Given the description of an element on the screen output the (x, y) to click on. 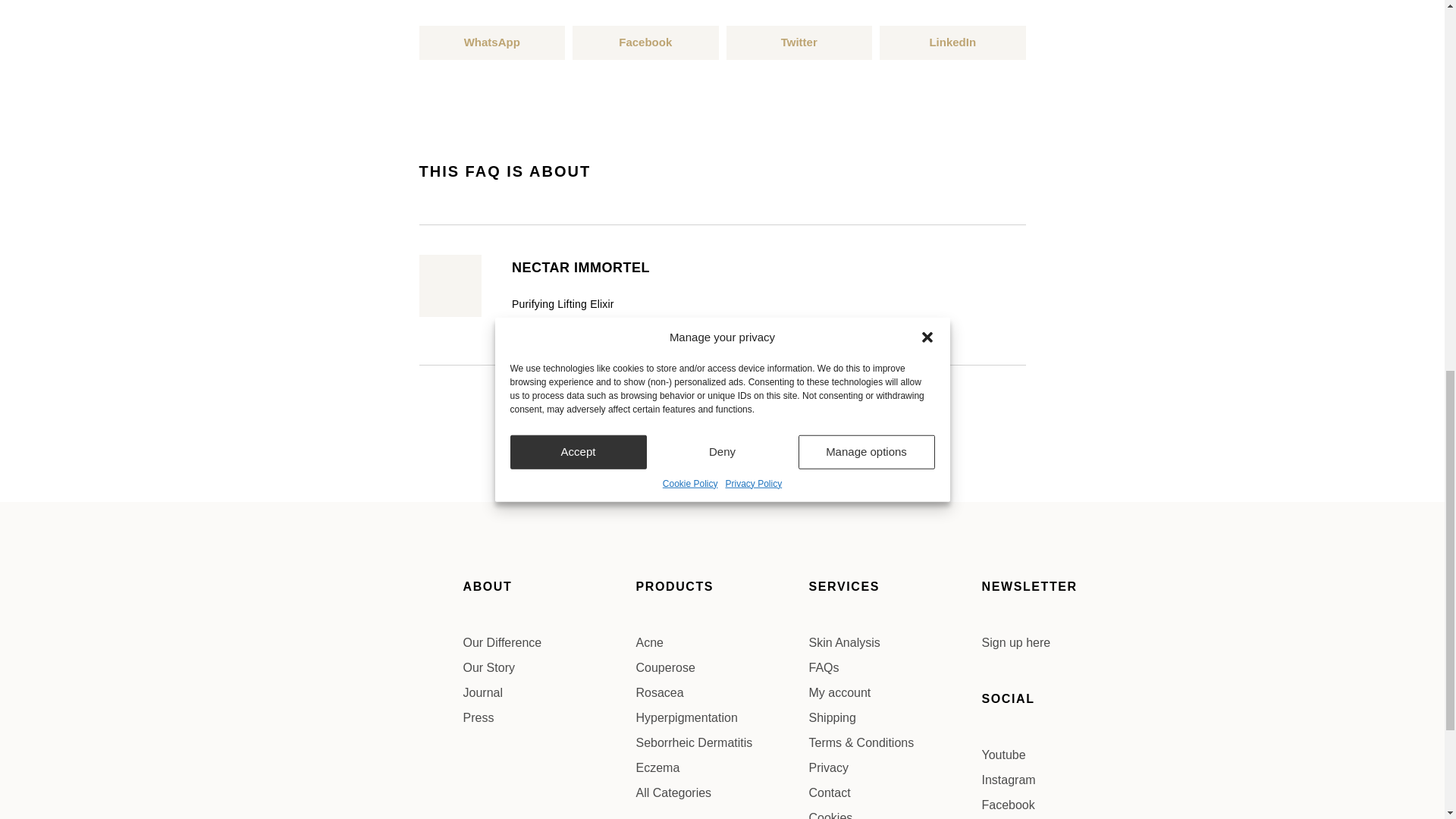
Journal (548, 692)
Couperose (721, 668)
Rosacea (721, 692)
Hyperpigmentation (721, 718)
Eczema (721, 768)
Seborrheic Dermatitis (721, 742)
Our Story (548, 668)
Our Difference (548, 642)
Acne (721, 642)
NECTAR IMMORTEL (580, 267)
Press (548, 718)
